Given the description of an element on the screen output the (x, y) to click on. 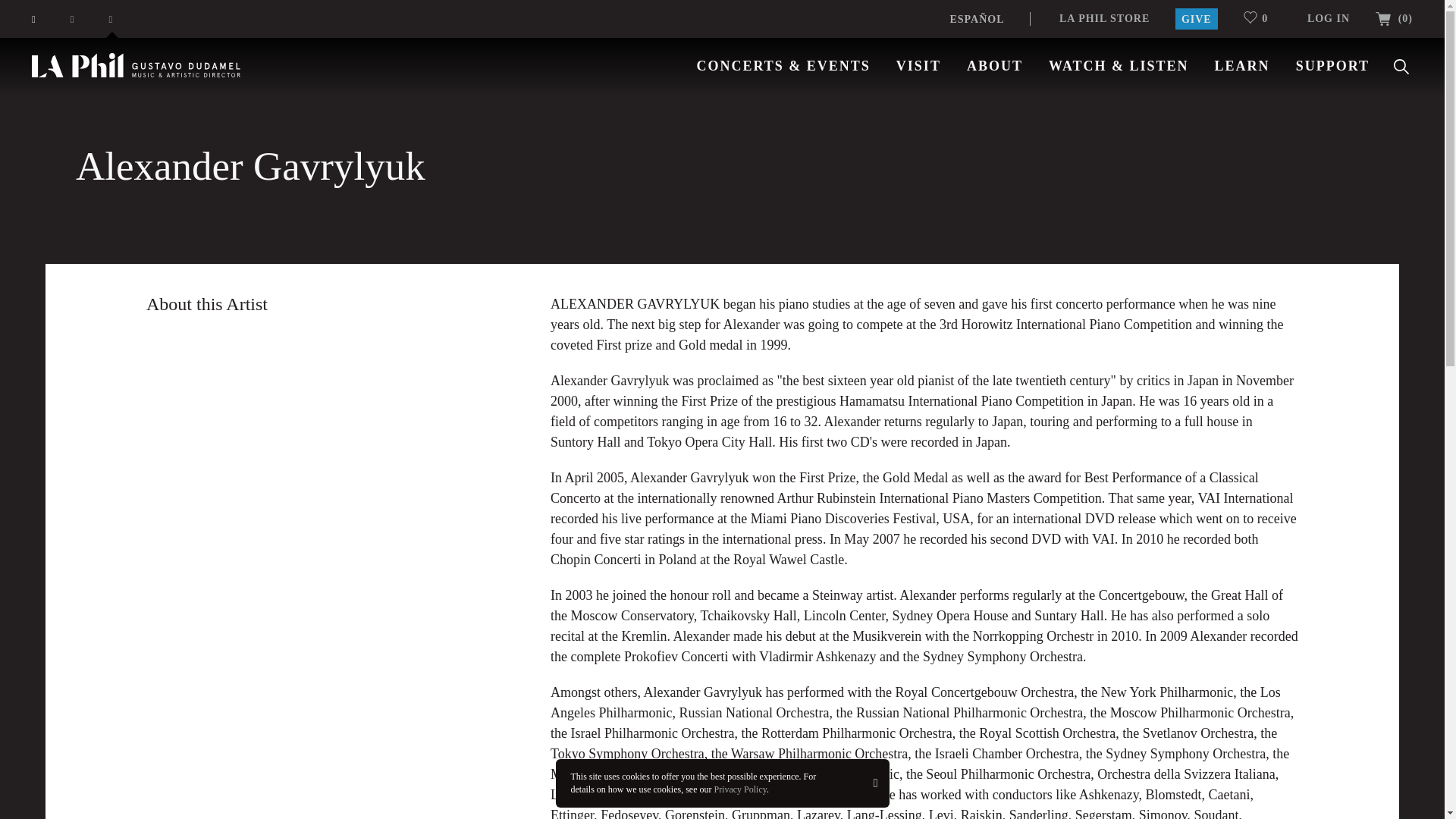
Homepage (136, 64)
LOG IN (1328, 18)
GIVE (1195, 18)
LA PHIL STORE (1104, 18)
ABOUT (994, 65)
VISIT (918, 65)
0 (1262, 18)
